Given the description of an element on the screen output the (x, y) to click on. 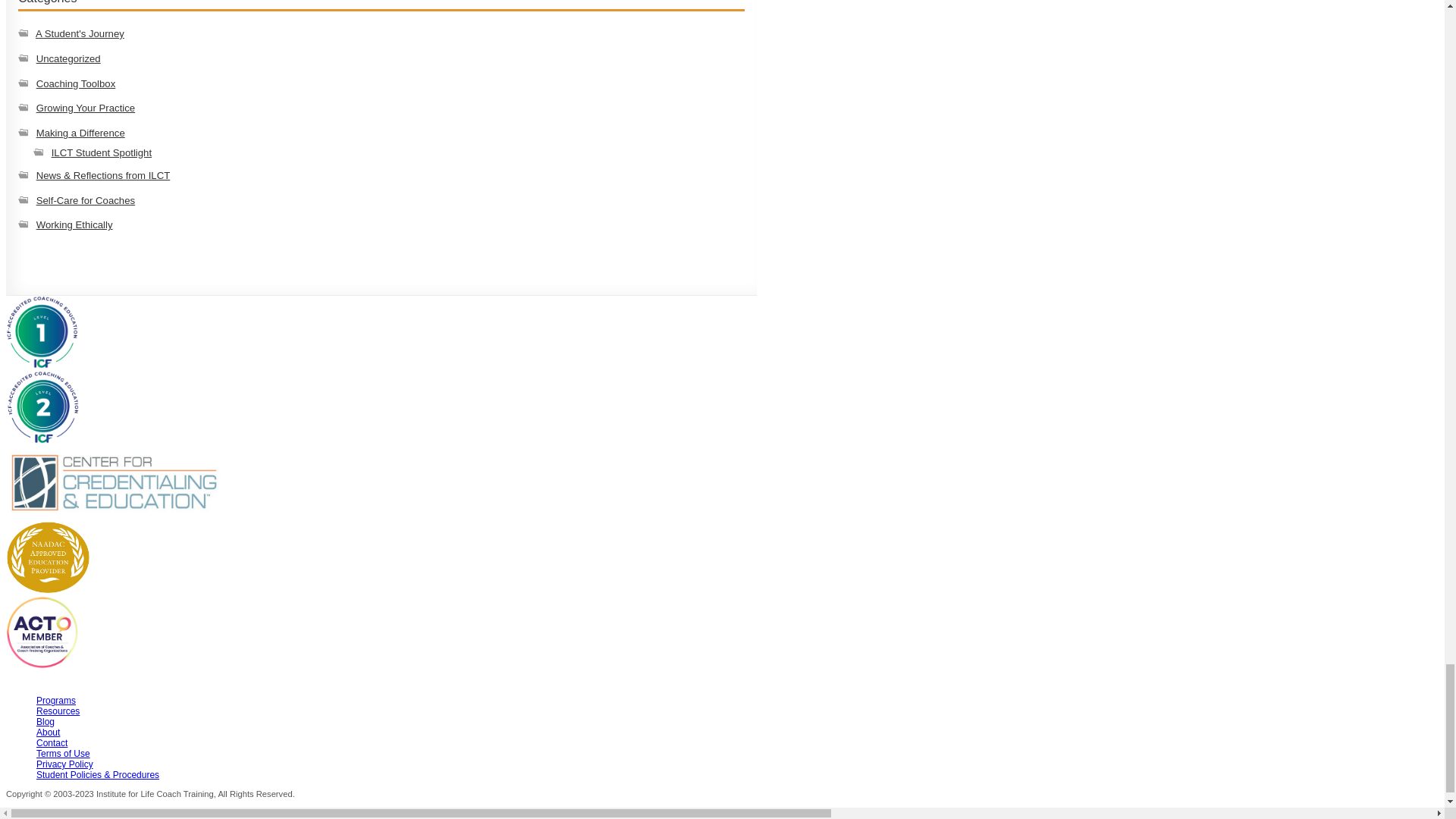
About (47, 732)
Self-Care for Coaches (85, 200)
Blog (45, 721)
Growing Your Practice (85, 107)
Privacy Policy (64, 764)
Programs (55, 700)
Working Ethically (74, 224)
Coaching Toolbox (76, 82)
Resources (58, 710)
Uncategorized (68, 58)
ILCT Student Spotlight (100, 152)
A Student's Journey (78, 33)
Making a Difference (80, 132)
Terms of Use (63, 753)
Contact (51, 742)
